Given the description of an element on the screen output the (x, y) to click on. 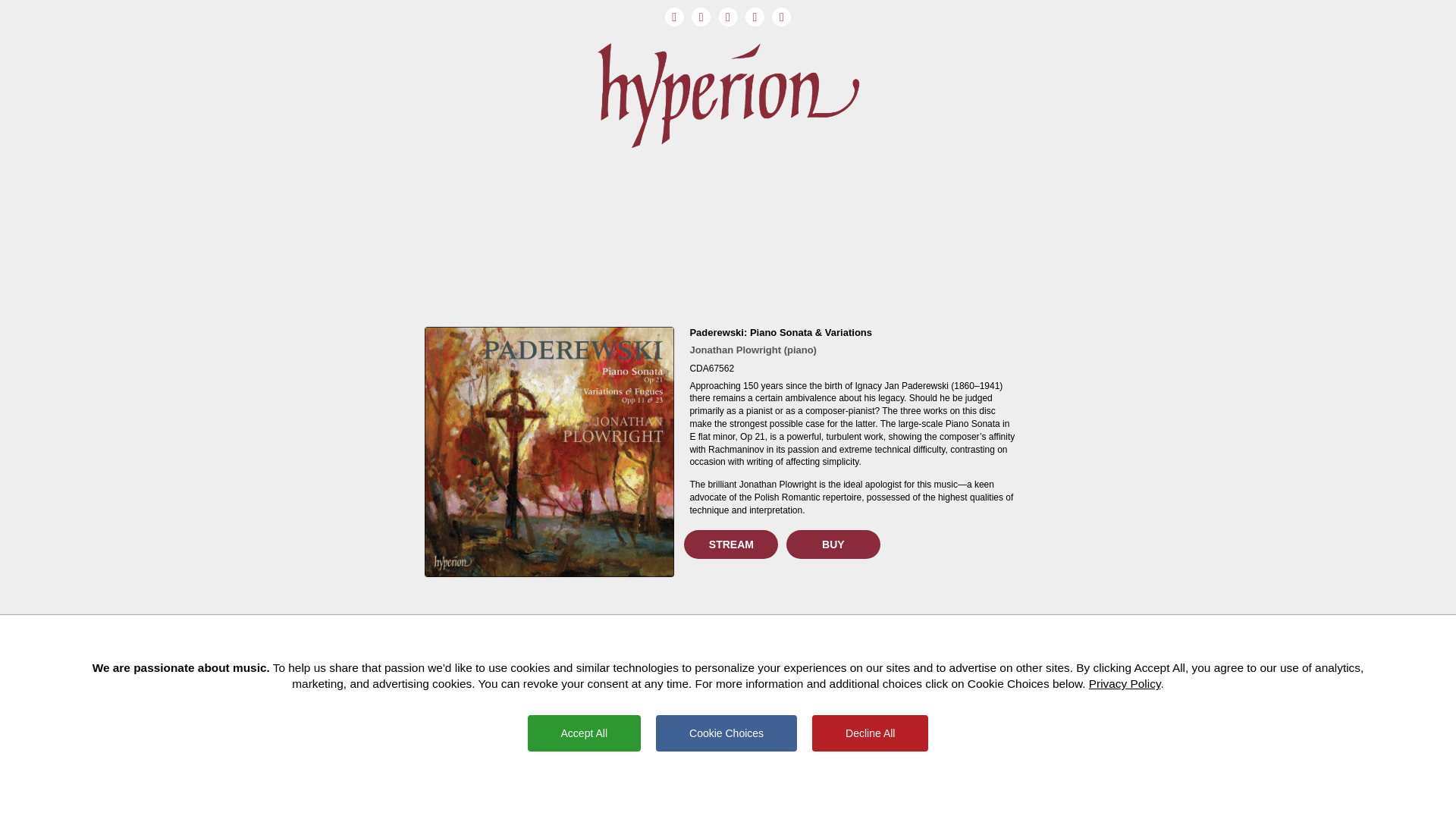
Cookie Choices (726, 732)
Accept All (583, 732)
BUY (833, 543)
TERMS (668, 798)
COOKIE INFO (776, 798)
PRIVACY (737, 798)
SAFE SURF (701, 798)
Decline All (870, 732)
Privacy Policy (1124, 683)
STREAM (730, 543)
